Given the description of an element on the screen output the (x, y) to click on. 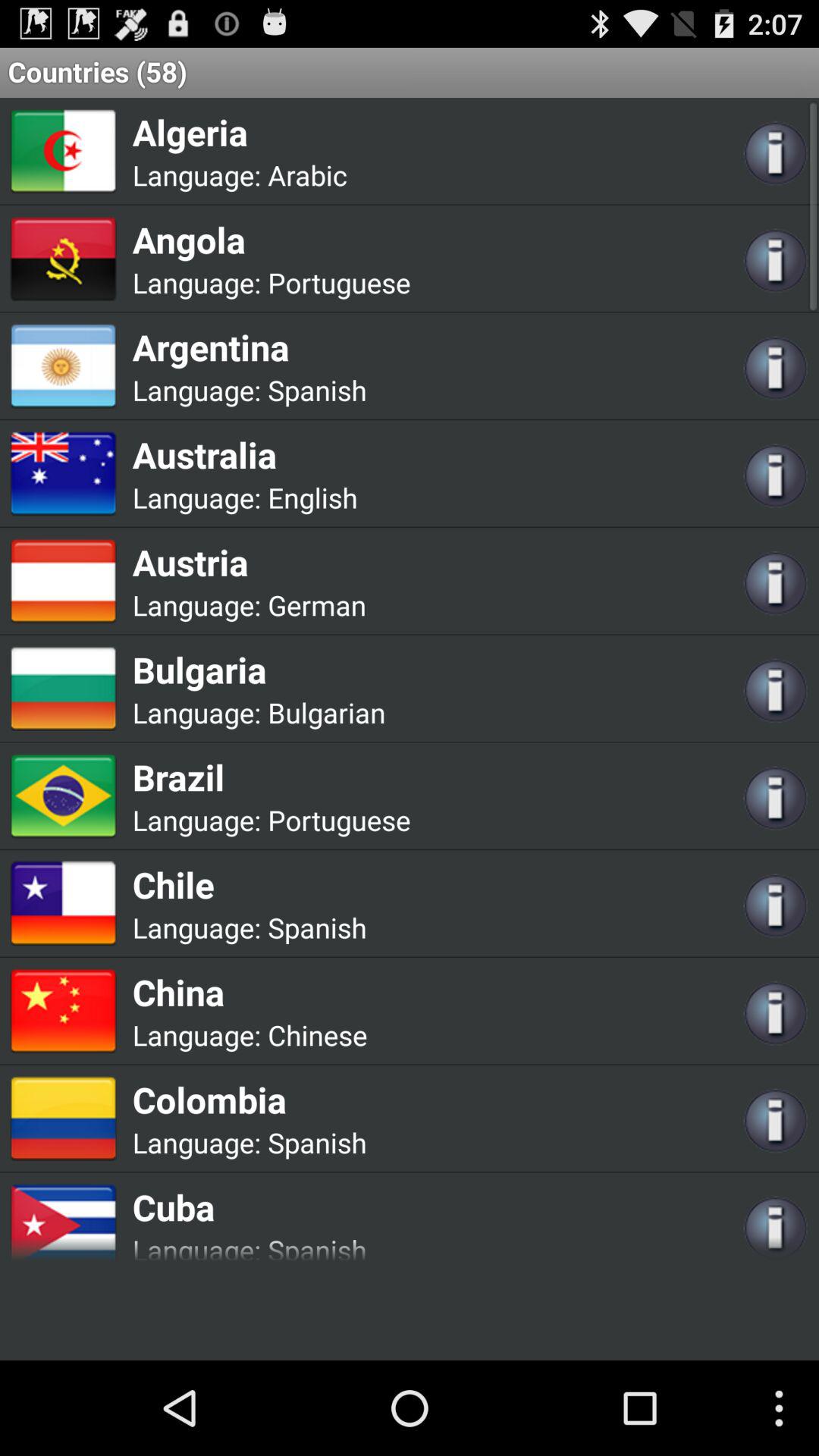
launch the app next to the language: (316, 604)
